Given the description of an element on the screen output the (x, y) to click on. 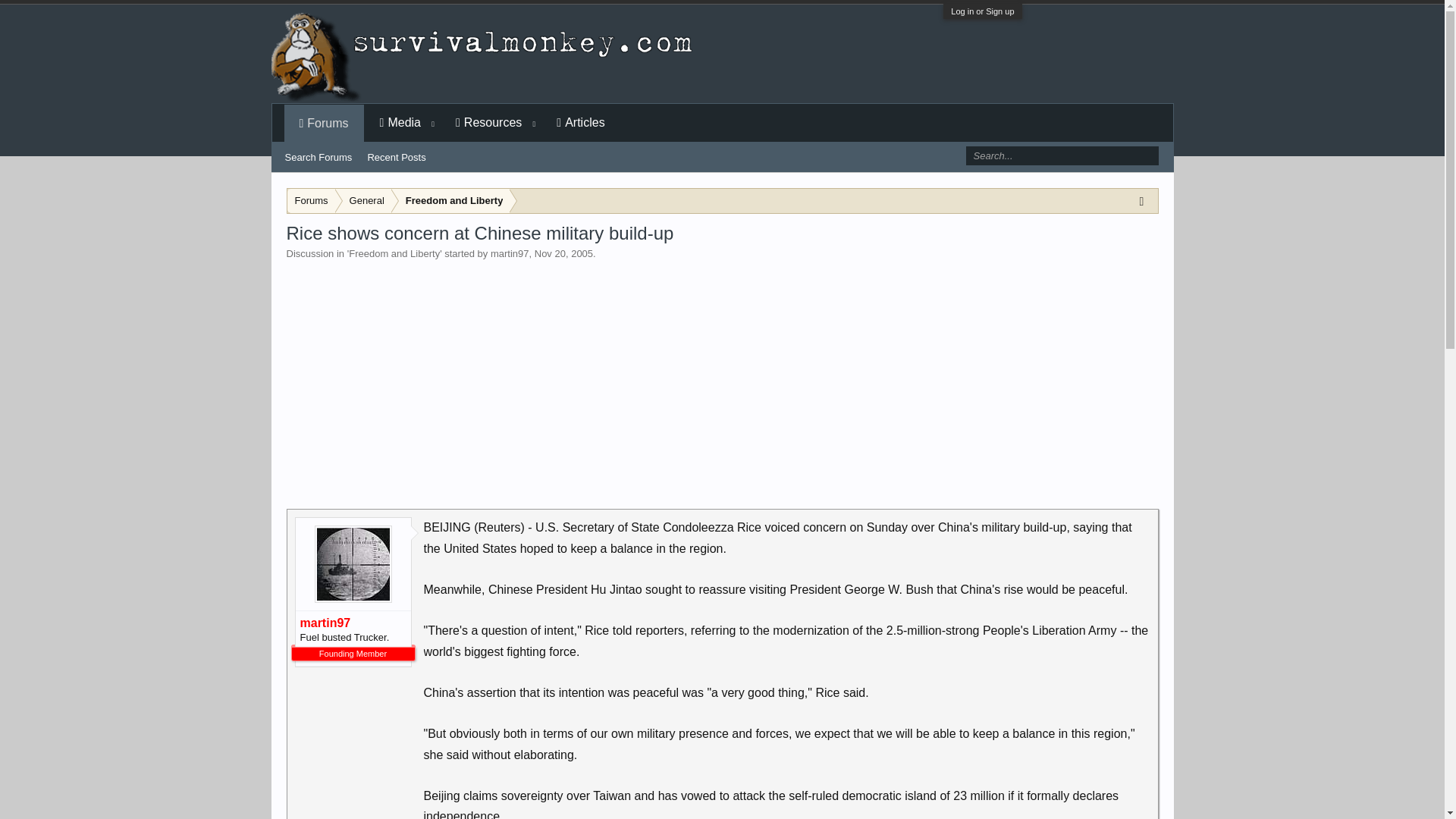
General (363, 201)
Open quick navigation (1144, 200)
martin97 (509, 253)
martin97 (352, 622)
Media (400, 122)
Nov 20, 2005 at 16:24 (563, 253)
Freedom and Liberty (451, 201)
Log in or Sign up (981, 10)
Forums (310, 201)
Forums (324, 123)
Nov 20, 2005 (563, 253)
Recent Posts (395, 157)
Search Forums (318, 157)
Freedom and Liberty (394, 253)
